Given the description of an element on the screen output the (x, y) to click on. 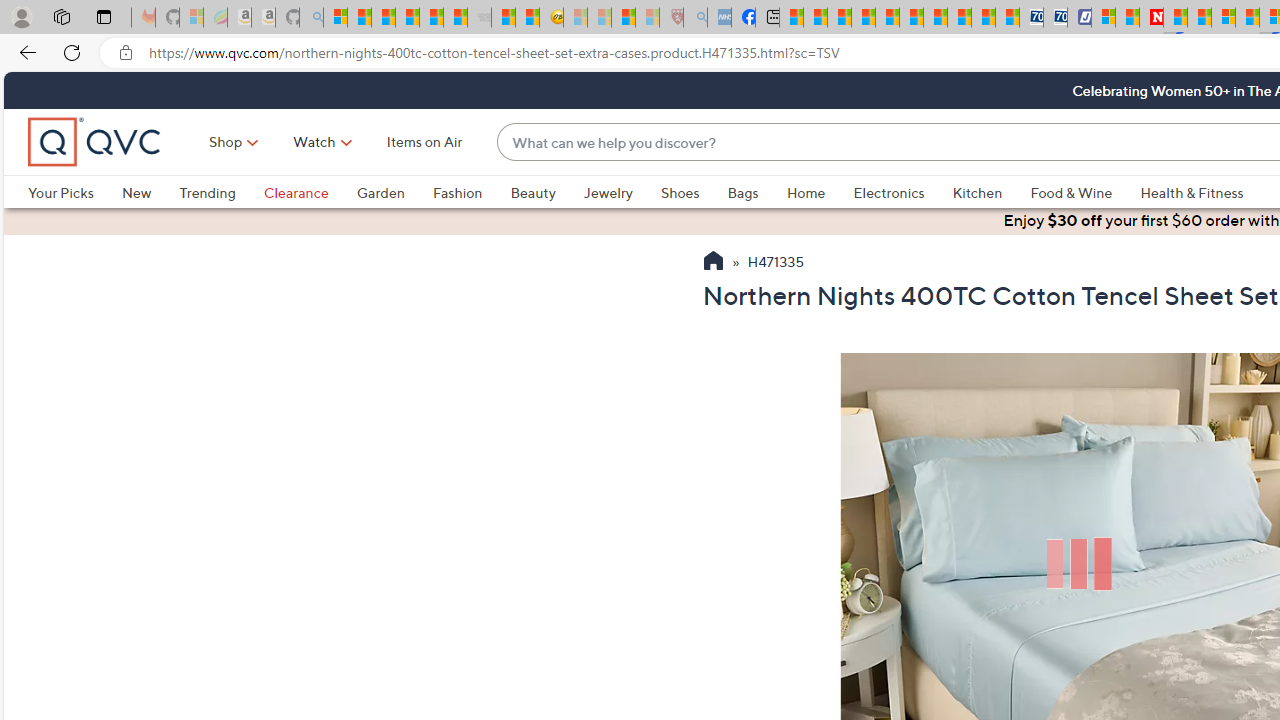
H471335 (775, 263)
Climate Damage Becomes Too Severe To Reverse (863, 17)
Bags (757, 192)
Electronics (902, 192)
14 Common Myths Debunked By Scientific Facts (1198, 17)
Jewelry (607, 192)
New (150, 192)
12 Popular Science Lies that Must be Corrected - Sleeping (647, 17)
Fashion (471, 192)
